Given the description of an element on the screen output the (x, y) to click on. 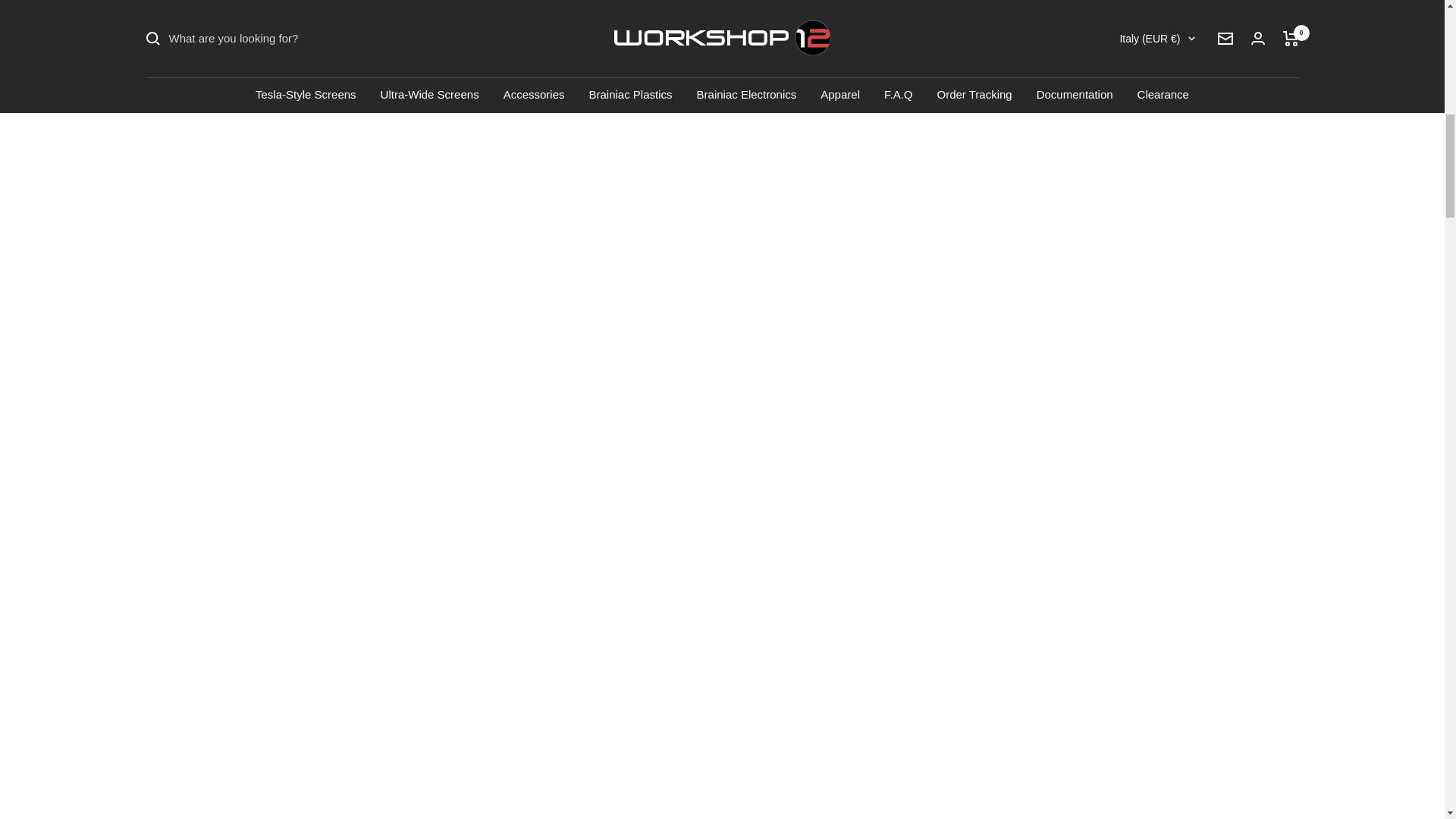
BN (1044, 89)
BR (1044, 14)
VG (1044, 64)
IO (1044, 39)
